Given the description of an element on the screen output the (x, y) to click on. 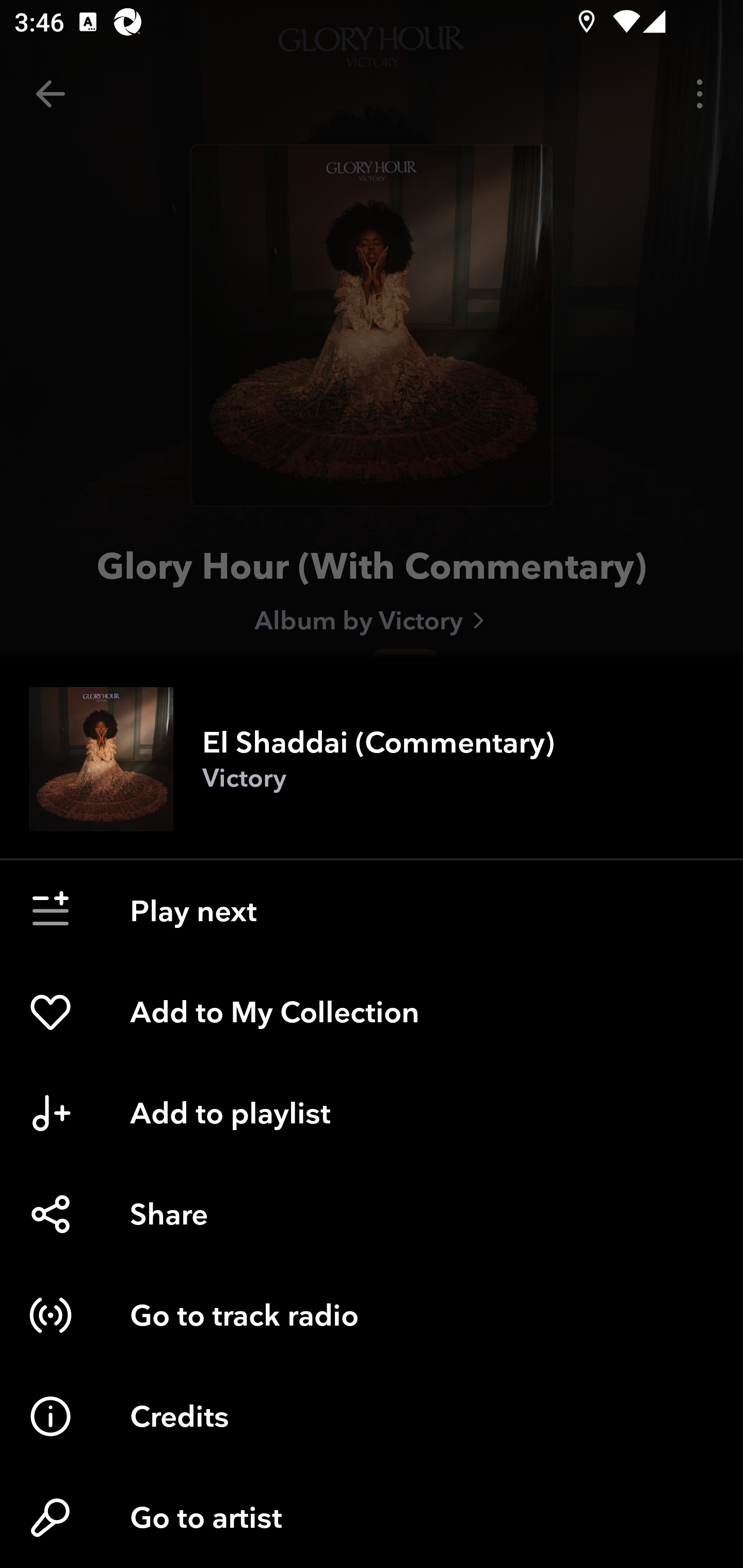
Play next (371, 910)
Add to My Collection (371, 1012)
Add to playlist (371, 1113)
Share (371, 1214)
Go to track radio (371, 1315)
Credits (371, 1416)
Go to artist (371, 1517)
